Given the description of an element on the screen output the (x, y) to click on. 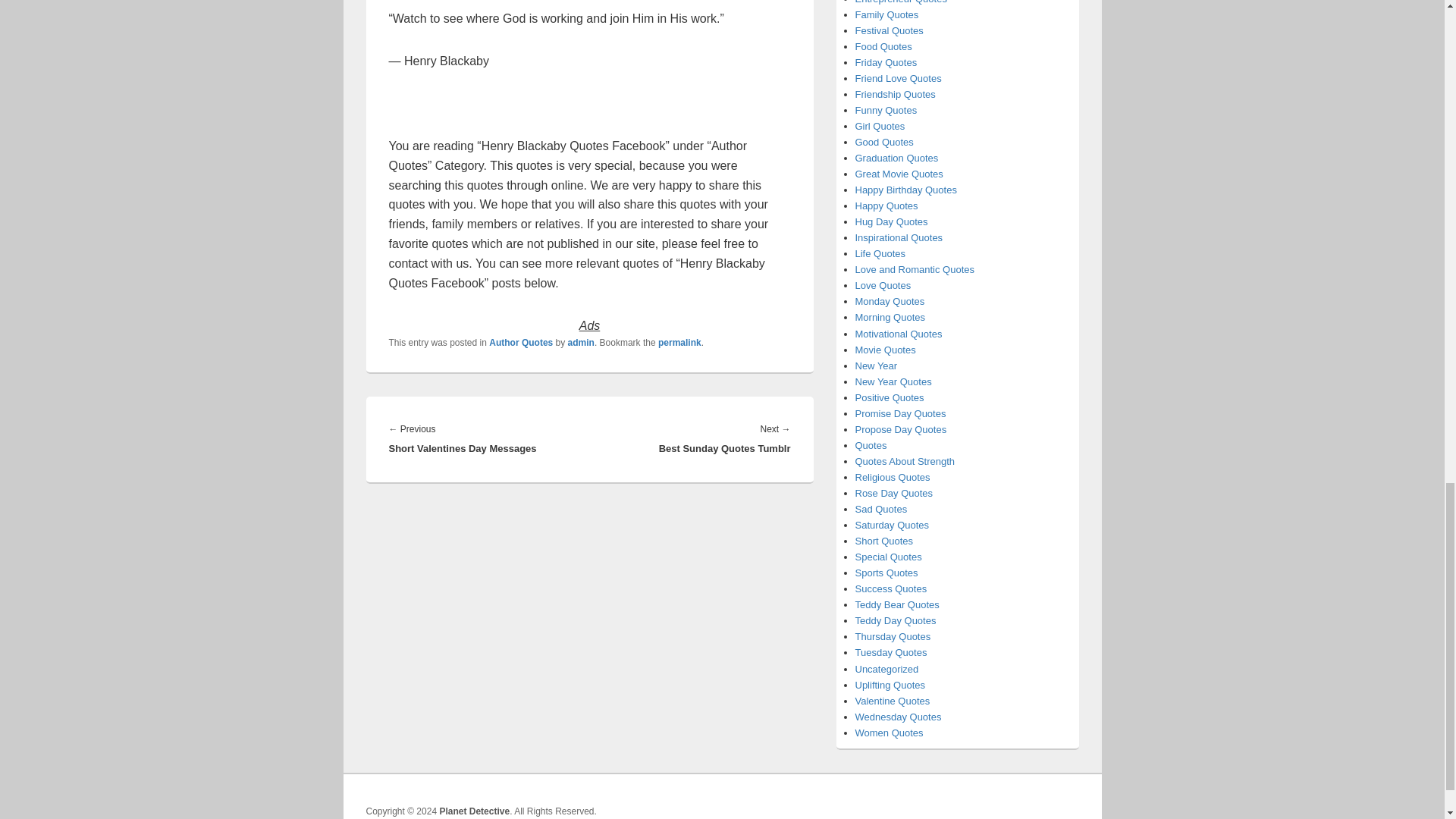
Entrepreneur Quotes (901, 2)
Permalink to Henry Blackaby Quotes Facebook (679, 342)
permalink (679, 342)
Author Quotes (521, 342)
Planet Detective (474, 810)
admin (580, 342)
